Given the description of an element on the screen output the (x, y) to click on. 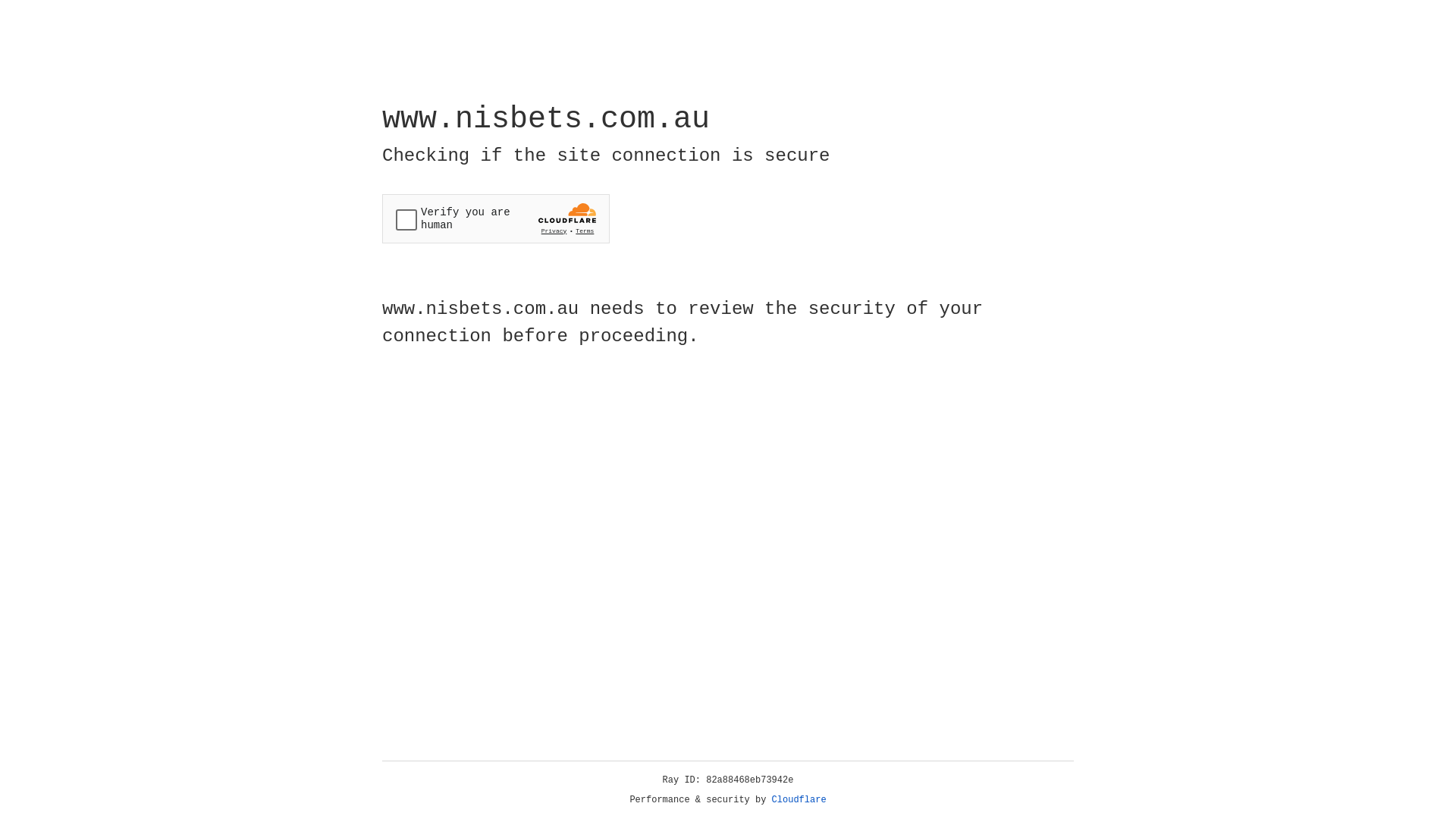
Widget containing a Cloudflare security challenge Element type: hover (495, 218)
Cloudflare Element type: text (798, 799)
